Given the description of an element on the screen output the (x, y) to click on. 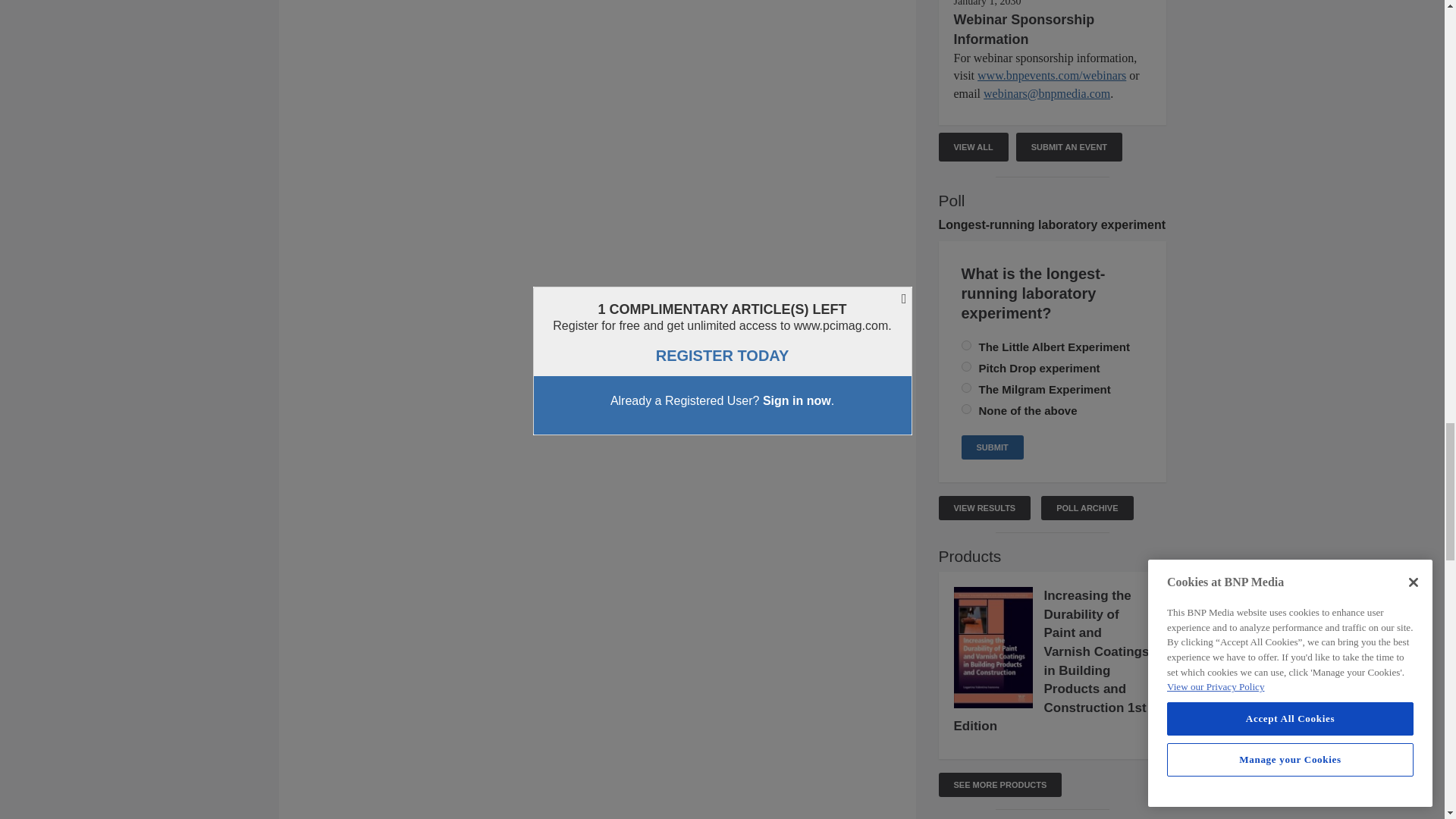
233 (965, 345)
Submit (991, 446)
Webinar Sponsorship Information (1023, 29)
230 (965, 366)
232 (965, 388)
231 (965, 409)
